Given the description of an element on the screen output the (x, y) to click on. 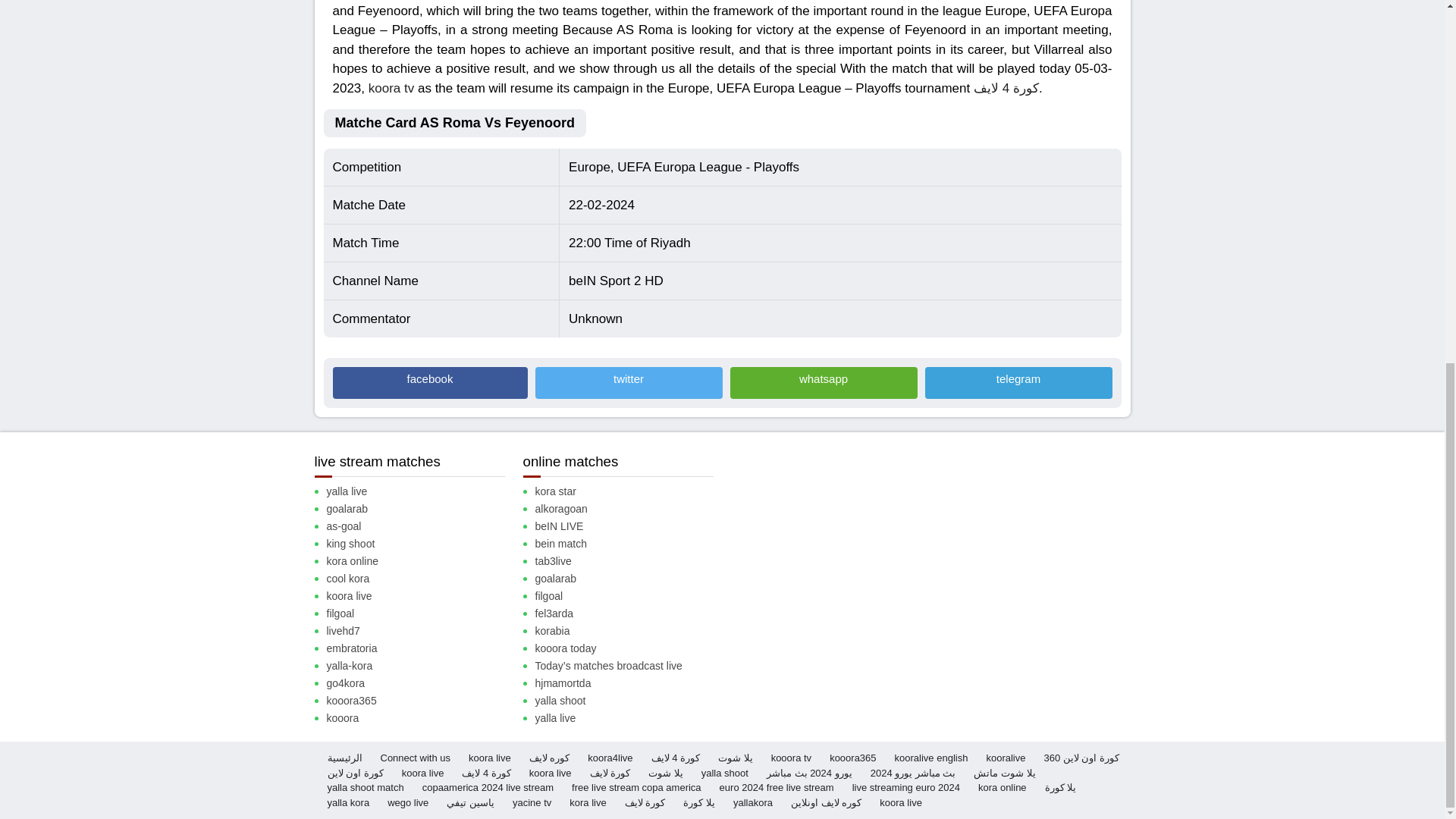
king shoot (421, 544)
whatsapp (823, 382)
cool kora (421, 578)
koora live (421, 596)
telegram (1018, 382)
Share to whatsapp (823, 382)
koora tv (390, 87)
goalarab (421, 508)
yalla-kora (421, 666)
embratoria (421, 648)
Share to twitter (628, 382)
go4kora (421, 683)
yalla live (421, 491)
kora online (421, 561)
filgoal (421, 613)
